Given the description of an element on the screen output the (x, y) to click on. 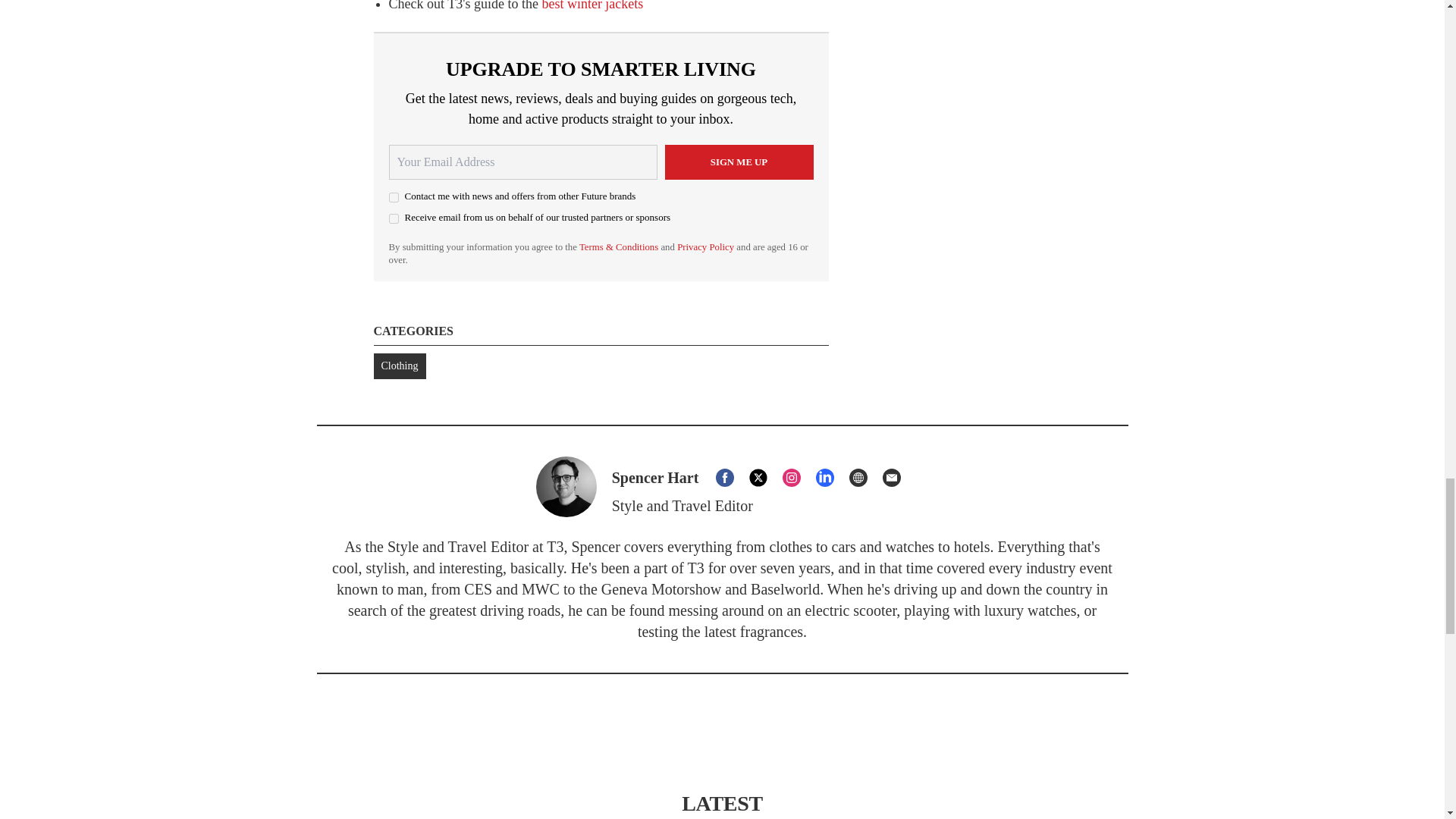
Sign me up (737, 161)
on (392, 197)
on (392, 218)
